Given the description of an element on the screen output the (x, y) to click on. 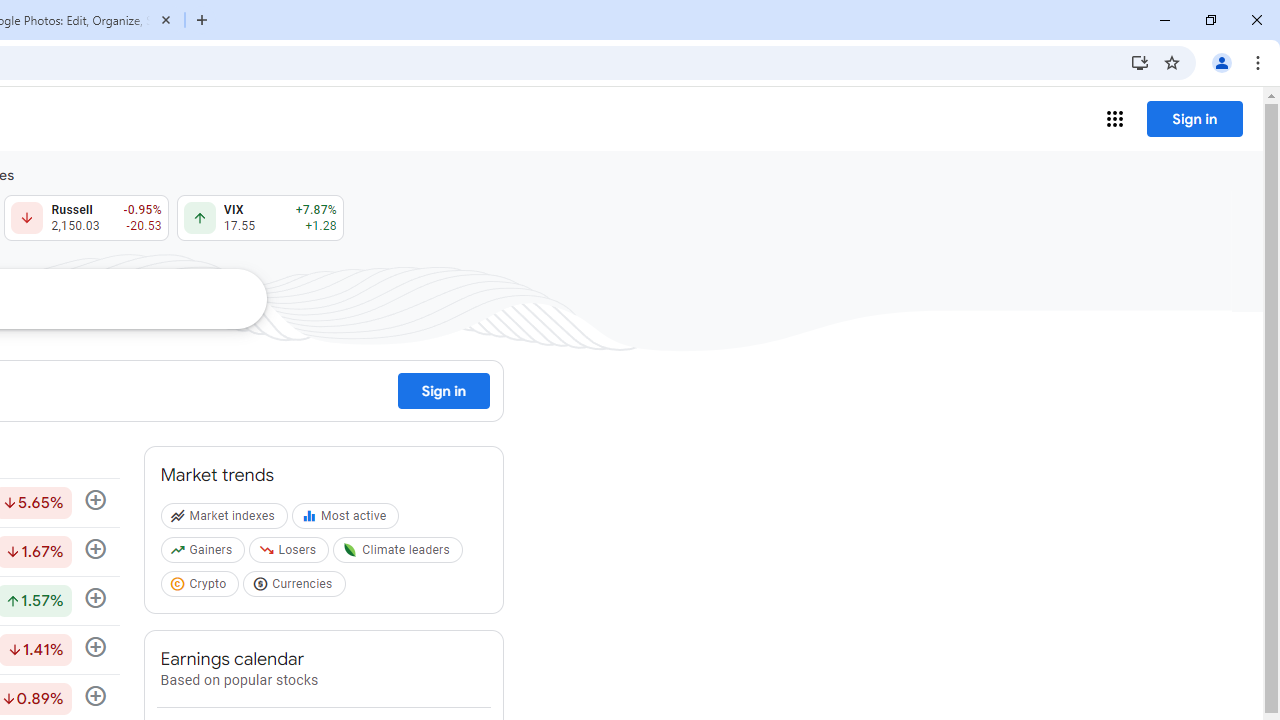
Crypto (202, 587)
Currencies (296, 587)
Install Google Finance (1139, 62)
Russell 2,150.03 Down by 0.95% -20.53 (85, 218)
Gainers (204, 553)
GLeaf logo (349, 550)
Losers (291, 553)
GLeaf logo Climate leaders (399, 553)
